Given the description of an element on the screen output the (x, y) to click on. 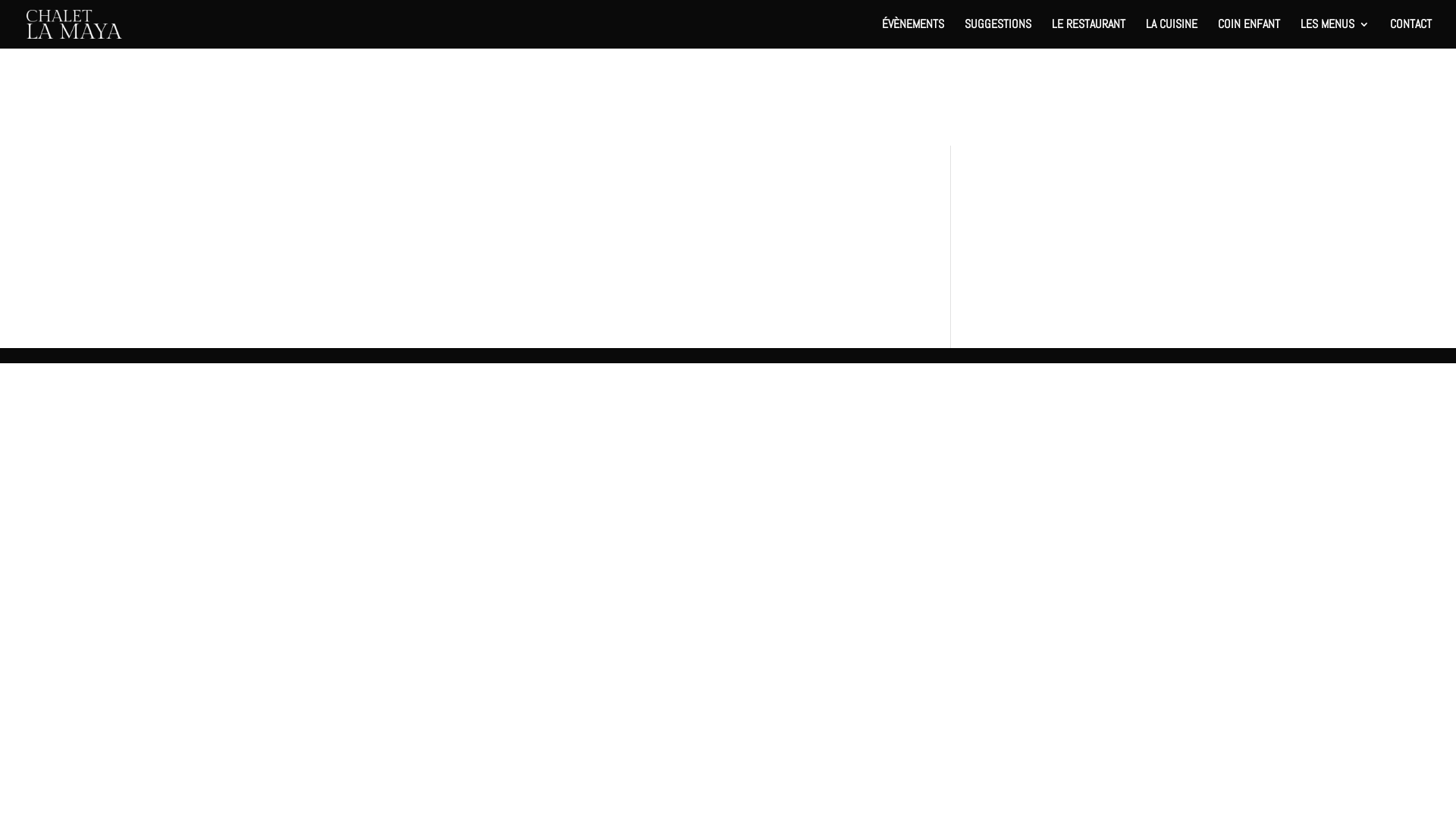
LE RESTAURANT Element type: text (1088, 33)
COIN ENFANT Element type: text (1248, 33)
LES MENUS Element type: text (1334, 33)
CONTACT Element type: text (1410, 33)
SUGGESTIONS Element type: text (997, 33)
LA CUISINE Element type: text (1171, 33)
